Given the description of an element on the screen output the (x, y) to click on. 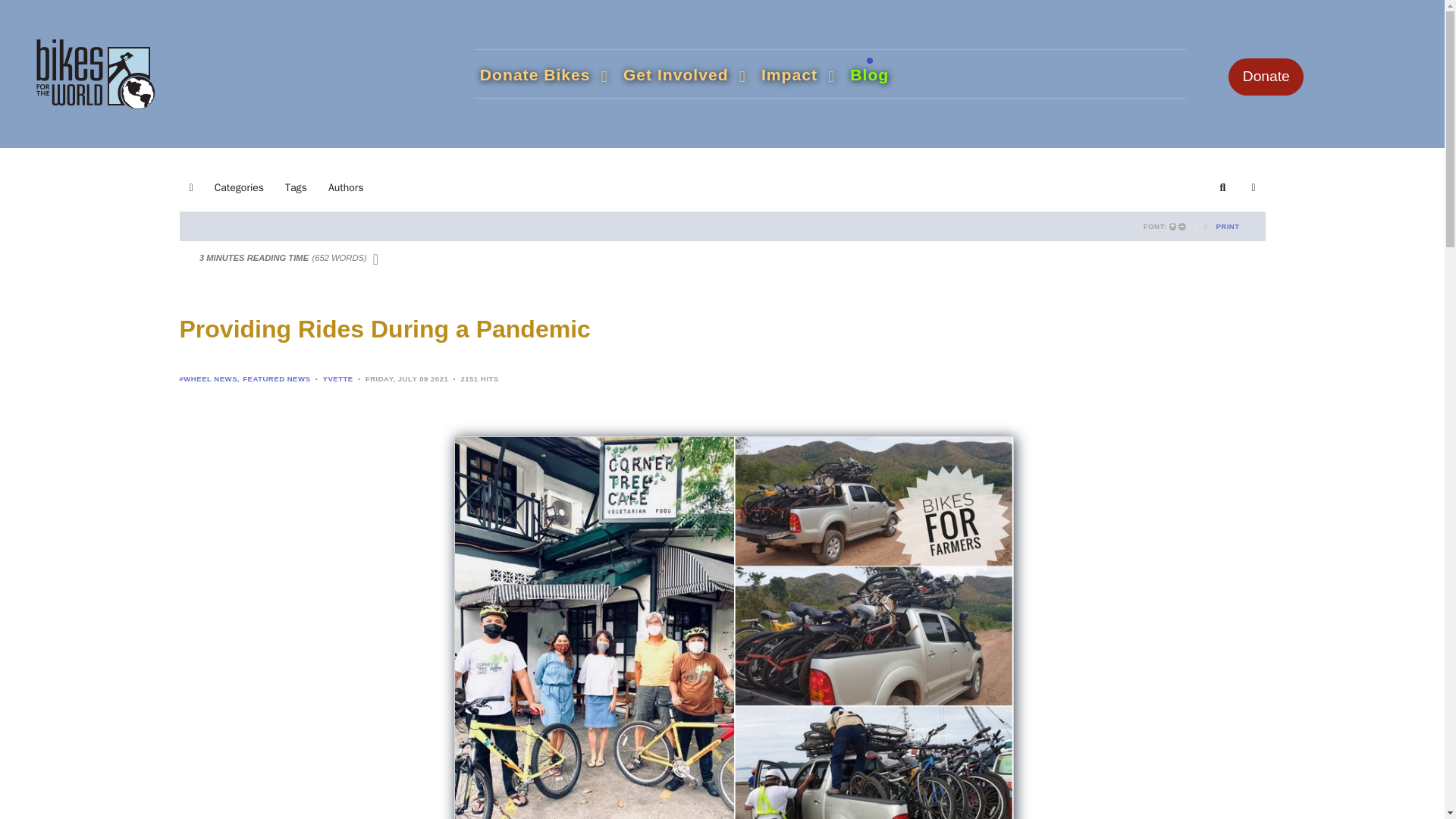
Impact (798, 74)
Get Involved (684, 74)
Donate (1266, 75)
Blog (869, 74)
Tags (296, 187)
Tags (296, 187)
Authors (346, 187)
Authors (346, 187)
Categories (239, 187)
aurora (95, 71)
